Given the description of an element on the screen output the (x, y) to click on. 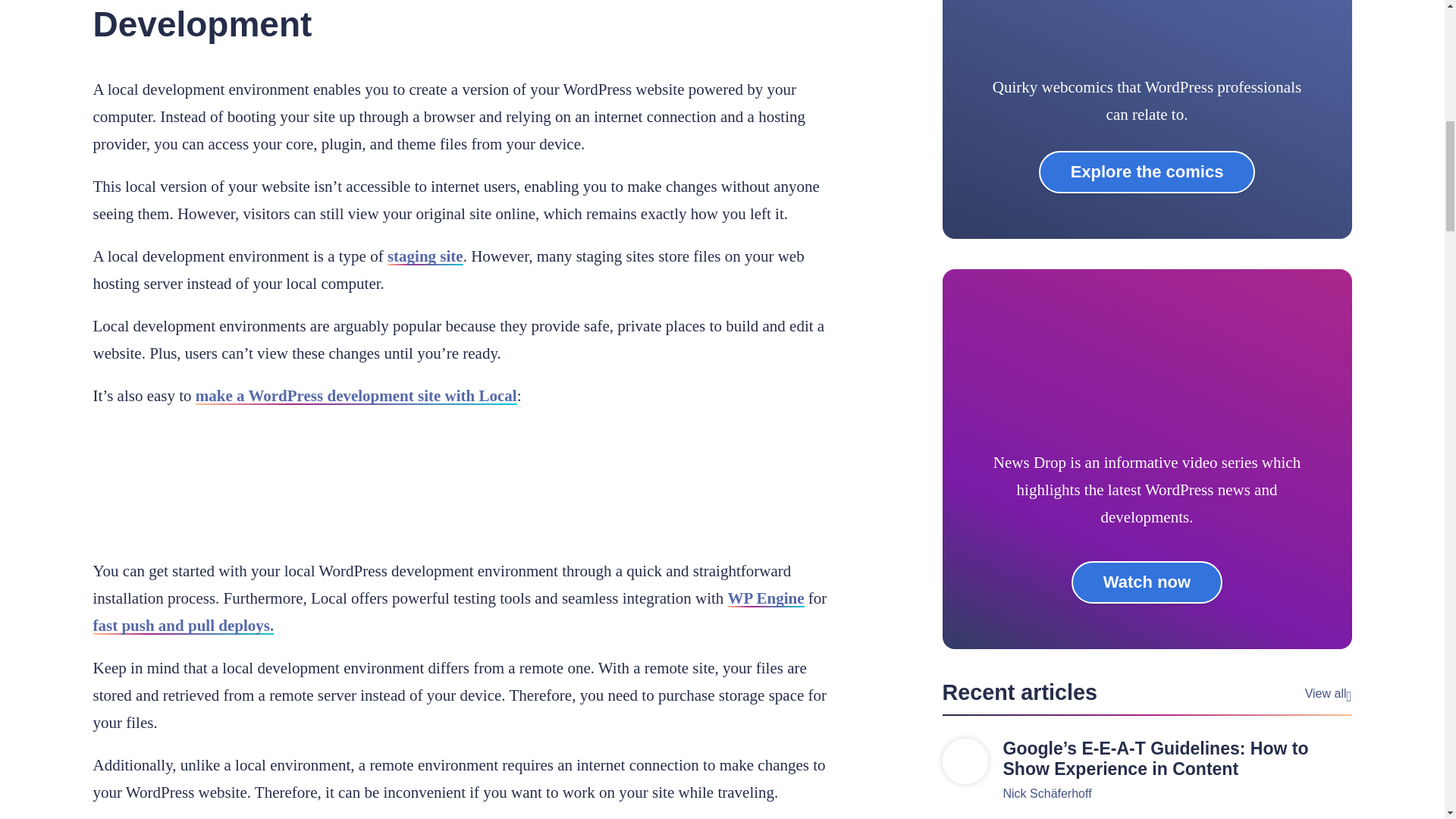
WP Engine (766, 597)
make a WordPress development site with Local (355, 395)
staging site (425, 256)
fast push and pull deploys. (183, 625)
